Given the description of an element on the screen output the (x, y) to click on. 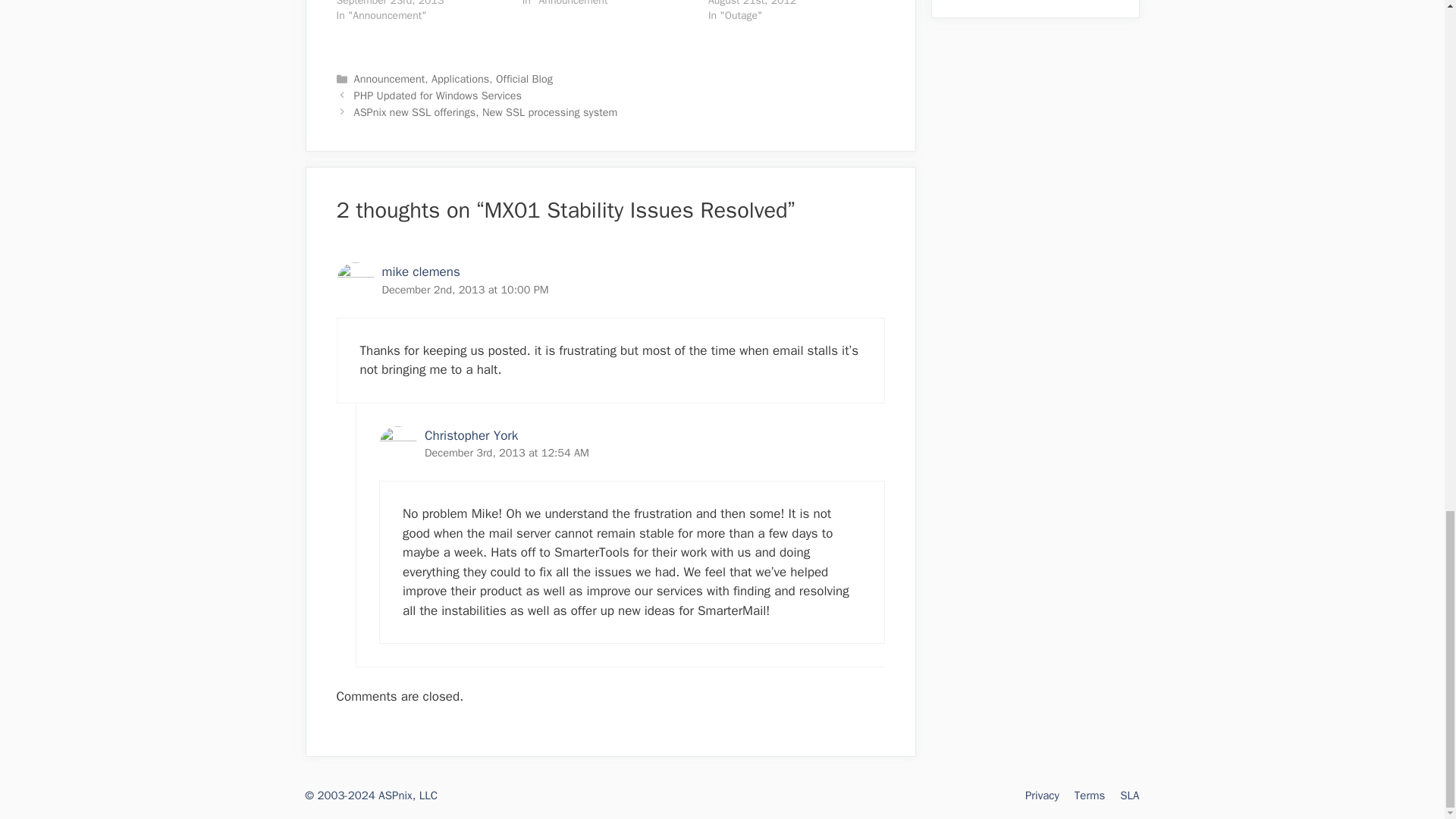
ASPnix new SSL offerings, New SSL processing system (485, 111)
PHP Updated for Windows Services (437, 95)
Official Blog (524, 78)
Applications (459, 78)
Announcement (389, 78)
